Given the description of an element on the screen output the (x, y) to click on. 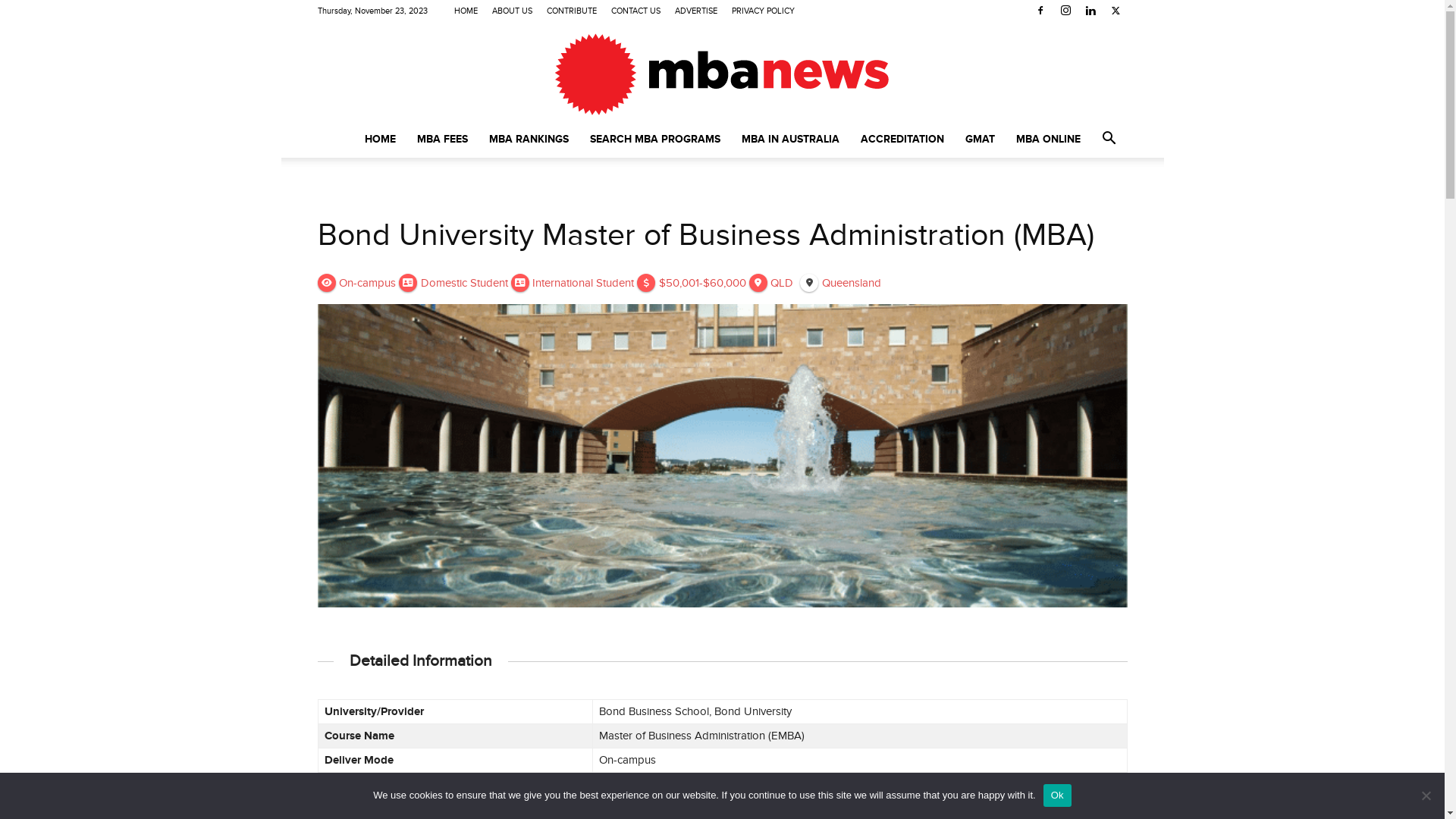
HOME Element type: text (379, 139)
On-campus Element type: text (355, 280)
ABOUT US Element type: text (512, 10)
Domestic Student Element type: text (453, 280)
No Element type: hover (1425, 795)
Twitter Element type: hover (1115, 10)
Search Element type: text (1086, 200)
ADVERTISE Element type: text (695, 10)
Bond University Master of Business Administration (MBA) Element type: text (704, 235)
ACCREDITATION Element type: text (901, 139)
SEARCH MBA PROGRAMS Element type: text (655, 139)
CONTRIBUTE Element type: text (571, 10)
MBA News Australia Element type: text (721, 73)
HOME Element type: text (465, 10)
Queensland Element type: text (840, 280)
$50,001-$60,000 Element type: text (691, 280)
QLD Element type: text (771, 280)
Ok Element type: text (1057, 795)
International Student Element type: text (572, 280)
MBA IN AUSTRALIA Element type: text (790, 139)
MBA RANKINGS Element type: text (527, 139)
MBA ONLINE Element type: text (1048, 139)
GMAT Element type: text (978, 139)
Linkedin Element type: hover (1090, 10)
CONTACT US Element type: text (635, 10)
PRIVACY POLICY Element type: text (762, 10)
Facebook Element type: hover (1040, 10)
MBA FEES Element type: text (442, 139)
Instagram Element type: hover (1065, 10)
